Given the description of an element on the screen output the (x, y) to click on. 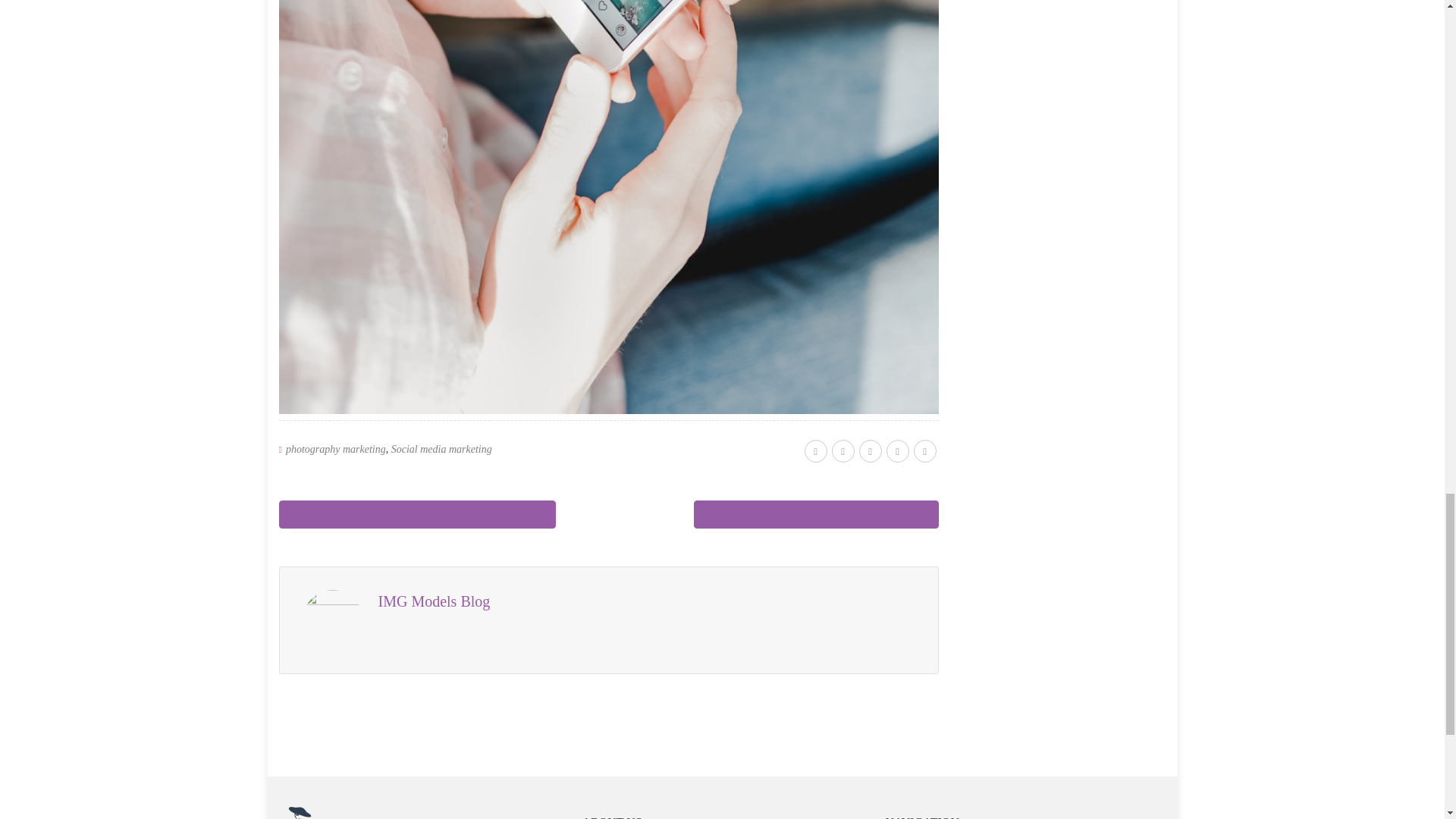
photography marketing (335, 449)
Social media marketing (441, 449)
Early Signs Of A Hormonal Imbalance In Women (816, 514)
IMG Models Blog (433, 600)
